Given the description of an element on the screen output the (x, y) to click on. 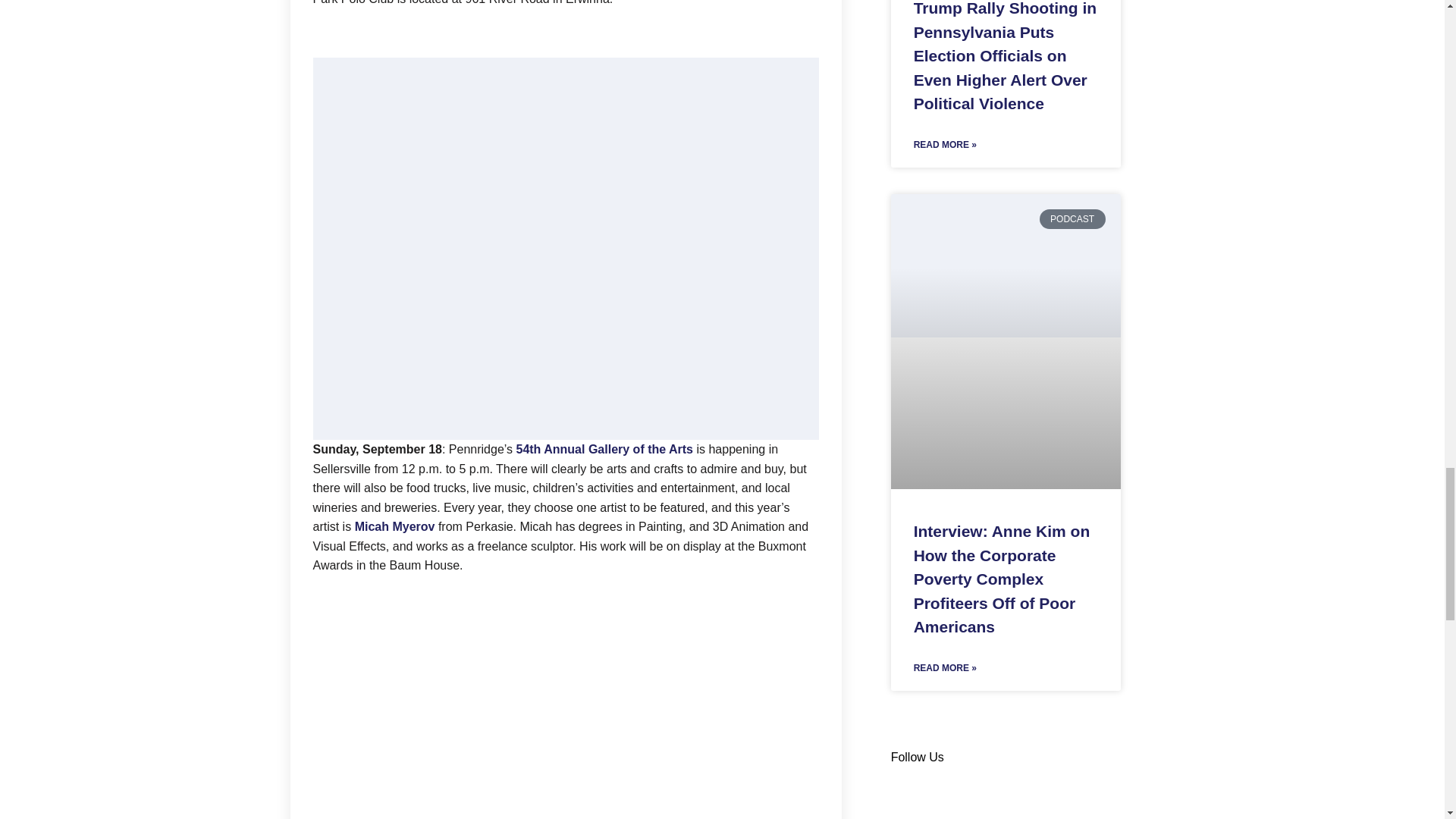
David Falcone (565, 706)
